Given the description of an element on the screen output the (x, y) to click on. 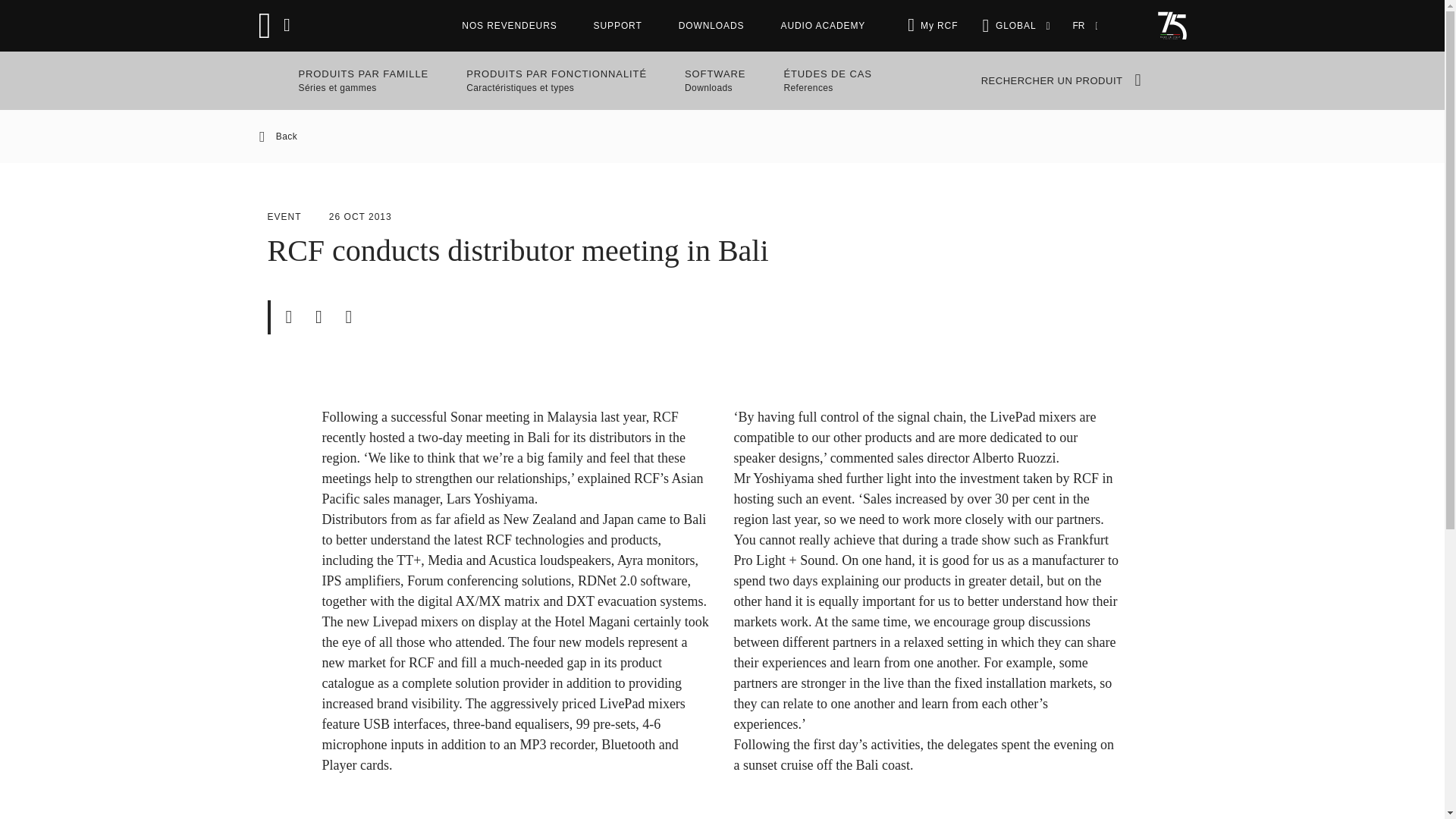
DOWNLOADS (711, 25)
My RCF (714, 80)
SUPPORT (939, 25)
AUDIO ACADEMY (618, 25)
Back (822, 25)
NOS REVENDEURS (721, 135)
